Given the description of an element on the screen output the (x, y) to click on. 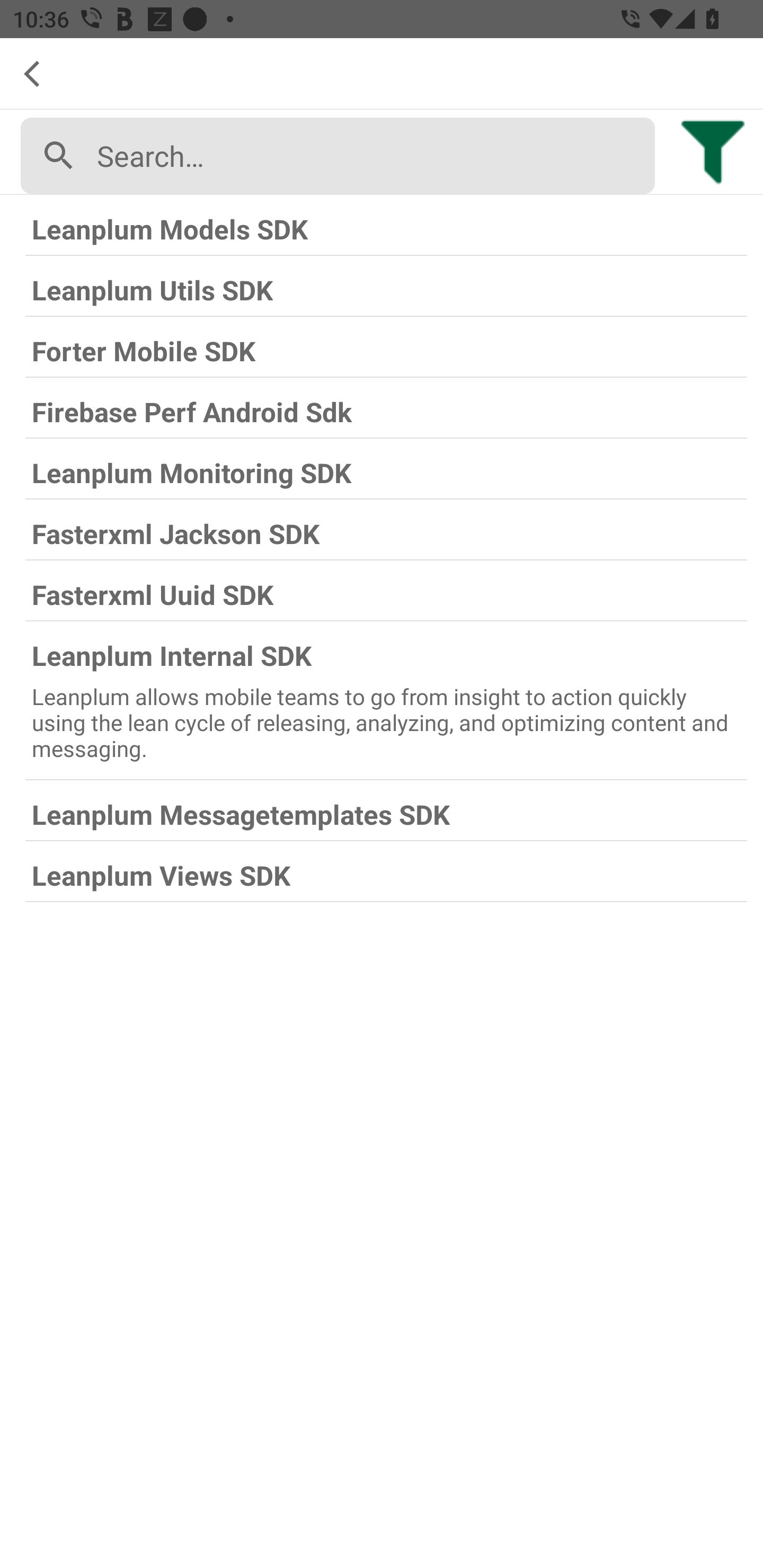
Back (39, 73)
SelectedFilter Icon (712, 149)
Search… (368, 156)
